Given the description of an element on the screen output the (x, y) to click on. 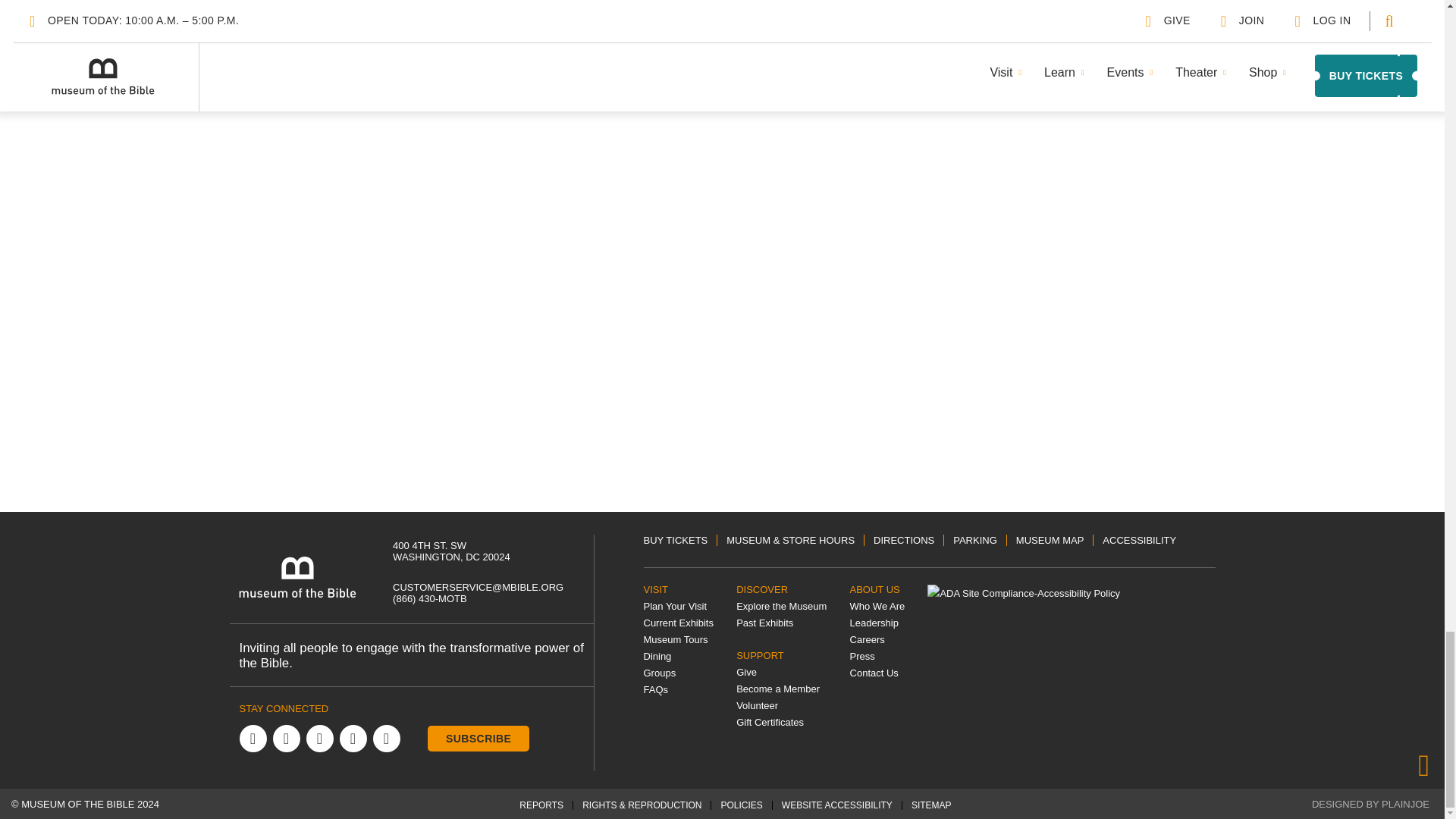
Designed by PlainJoe (1370, 803)
CLICK HERE TO RETURN TO THE MUSEUM OF THE BIBLE HOMEPAGE (296, 576)
